Given the description of an element on the screen output the (x, y) to click on. 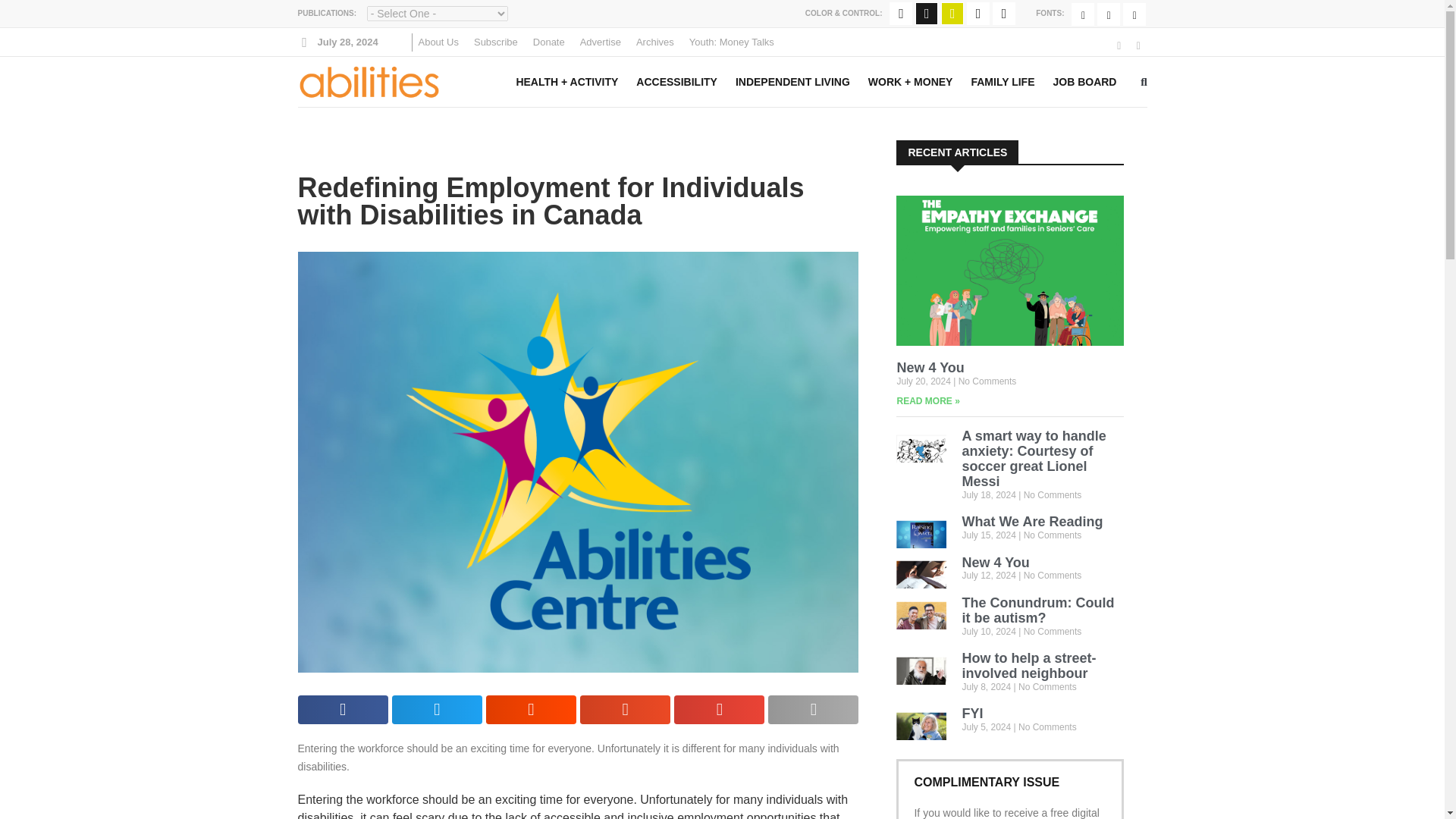
Youth: Money Talks (731, 42)
Donate (548, 42)
Archives (654, 42)
FAMILY LIFE (1001, 81)
bcs-abilities-logo-header-1-2 (368, 81)
INDEPENDENT LIVING (792, 81)
Toggle Double Font Size (1133, 14)
About Us (437, 42)
Toggle Dark Contrast (926, 13)
Toggle Underline Links (1003, 13)
Toggle Normal Font Size (1082, 14)
Subscribe (495, 42)
JOB BOARD (1084, 81)
ACCESSIBILITY (676, 81)
Toggle Light Contrast (951, 13)
